Given the description of an element on the screen output the (x, y) to click on. 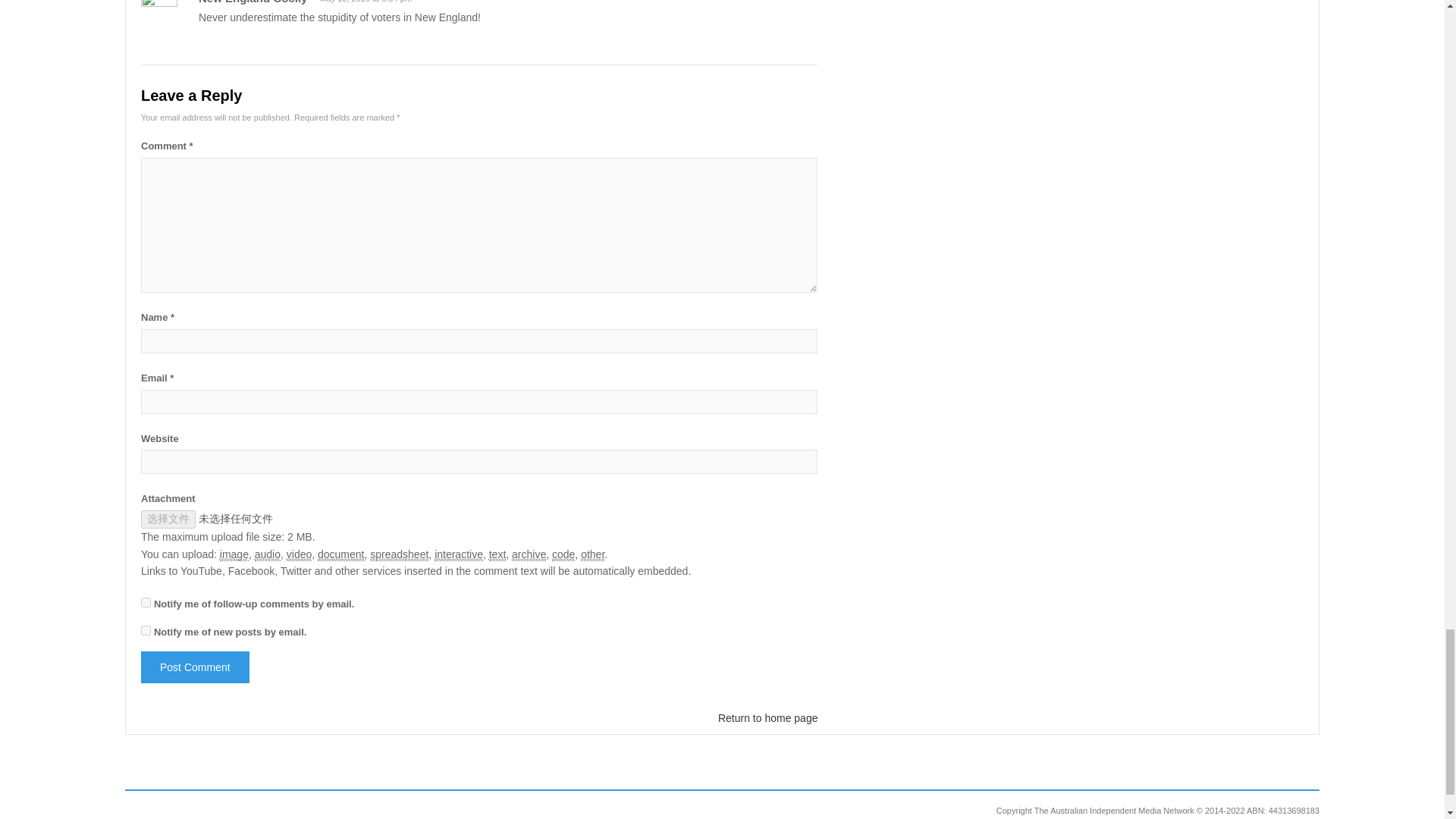
Post Comment (194, 667)
subscribe (146, 630)
subscribe (146, 602)
